Given the description of an element on the screen output the (x, y) to click on. 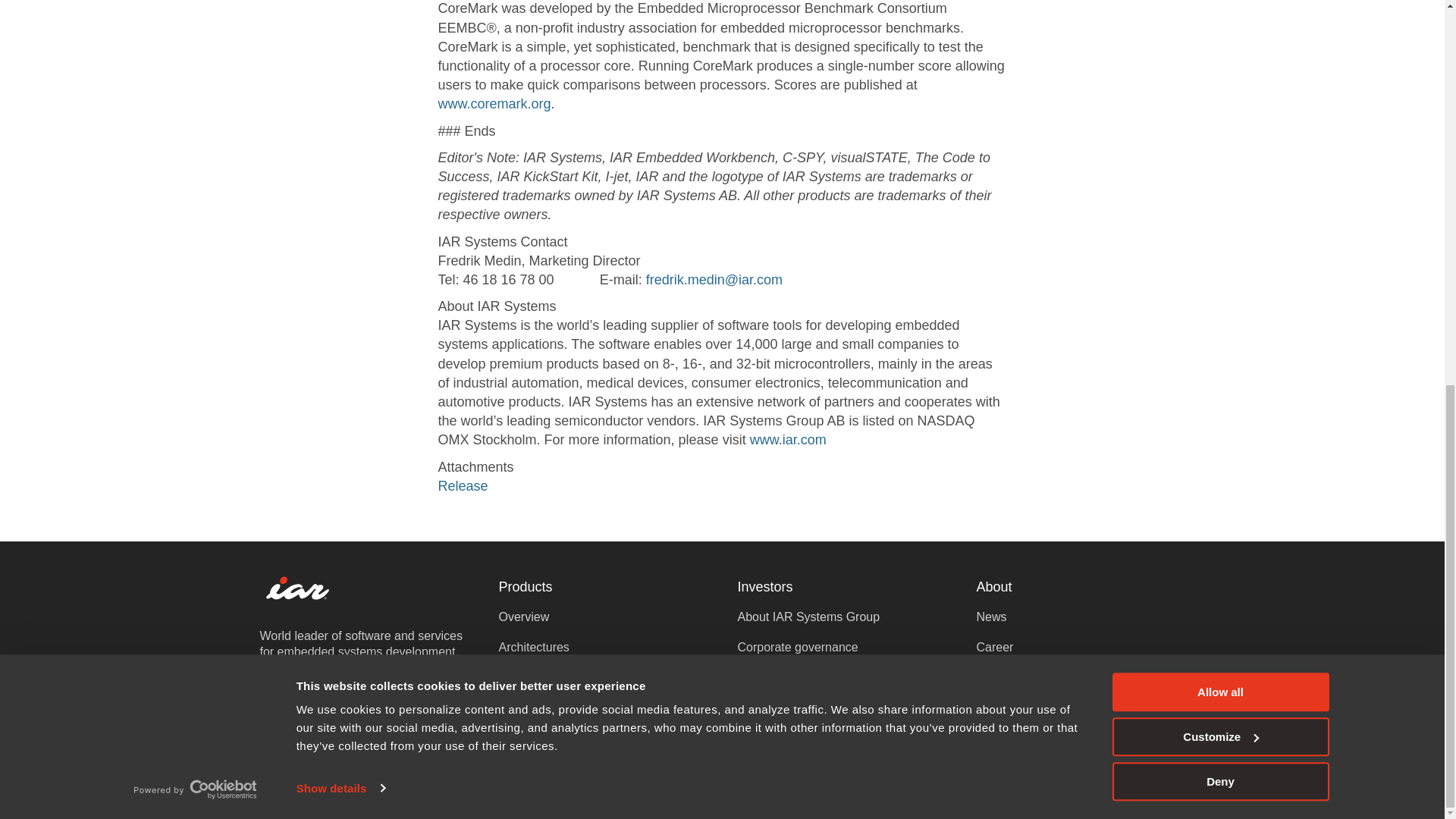
Show details (340, 61)
